Given the description of an element on the screen output the (x, y) to click on. 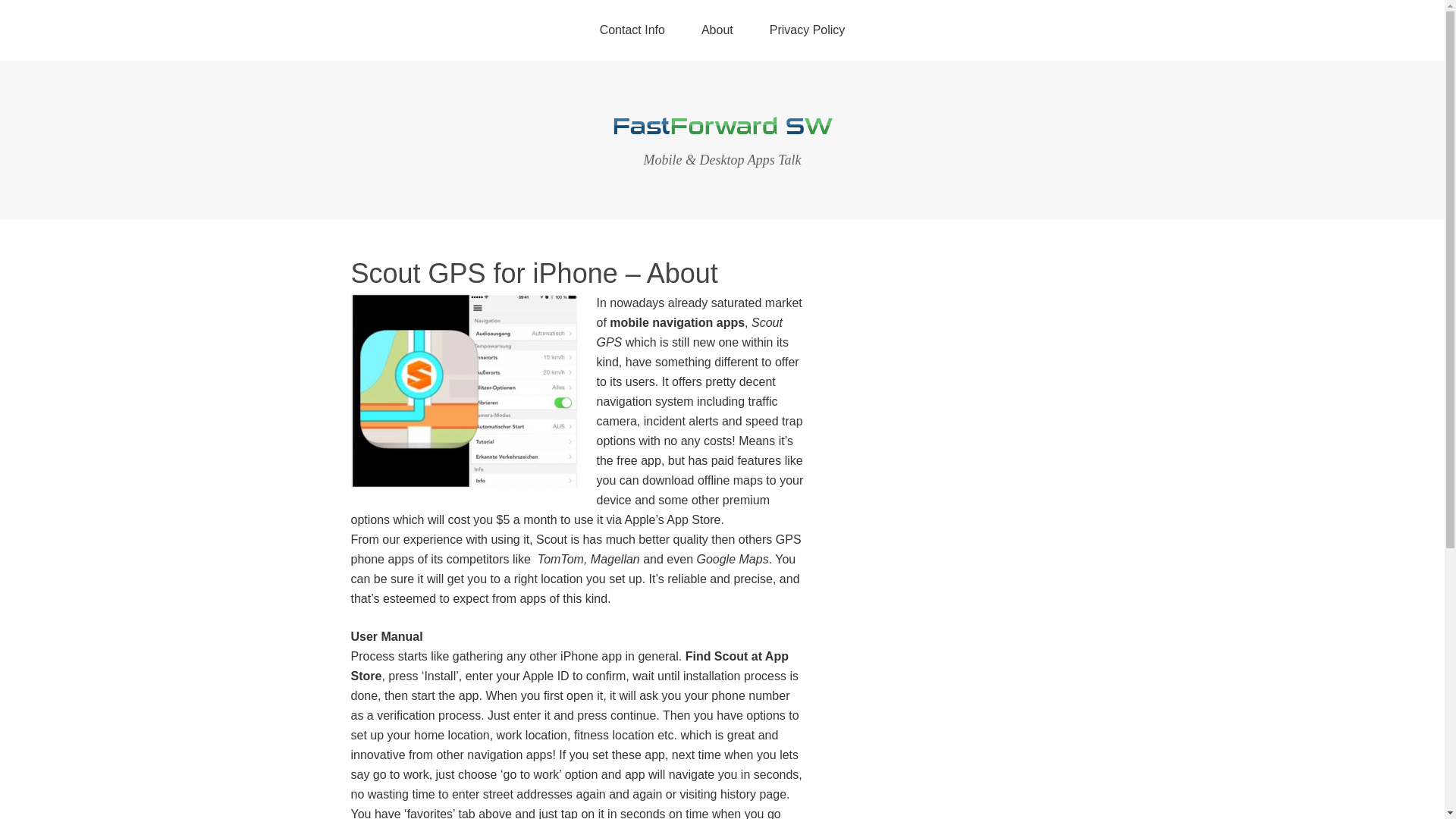
Privacy Policy (807, 30)
Contact Info (631, 30)
About (716, 30)
FastForward Software (721, 127)
